Given the description of an element on the screen output the (x, y) to click on. 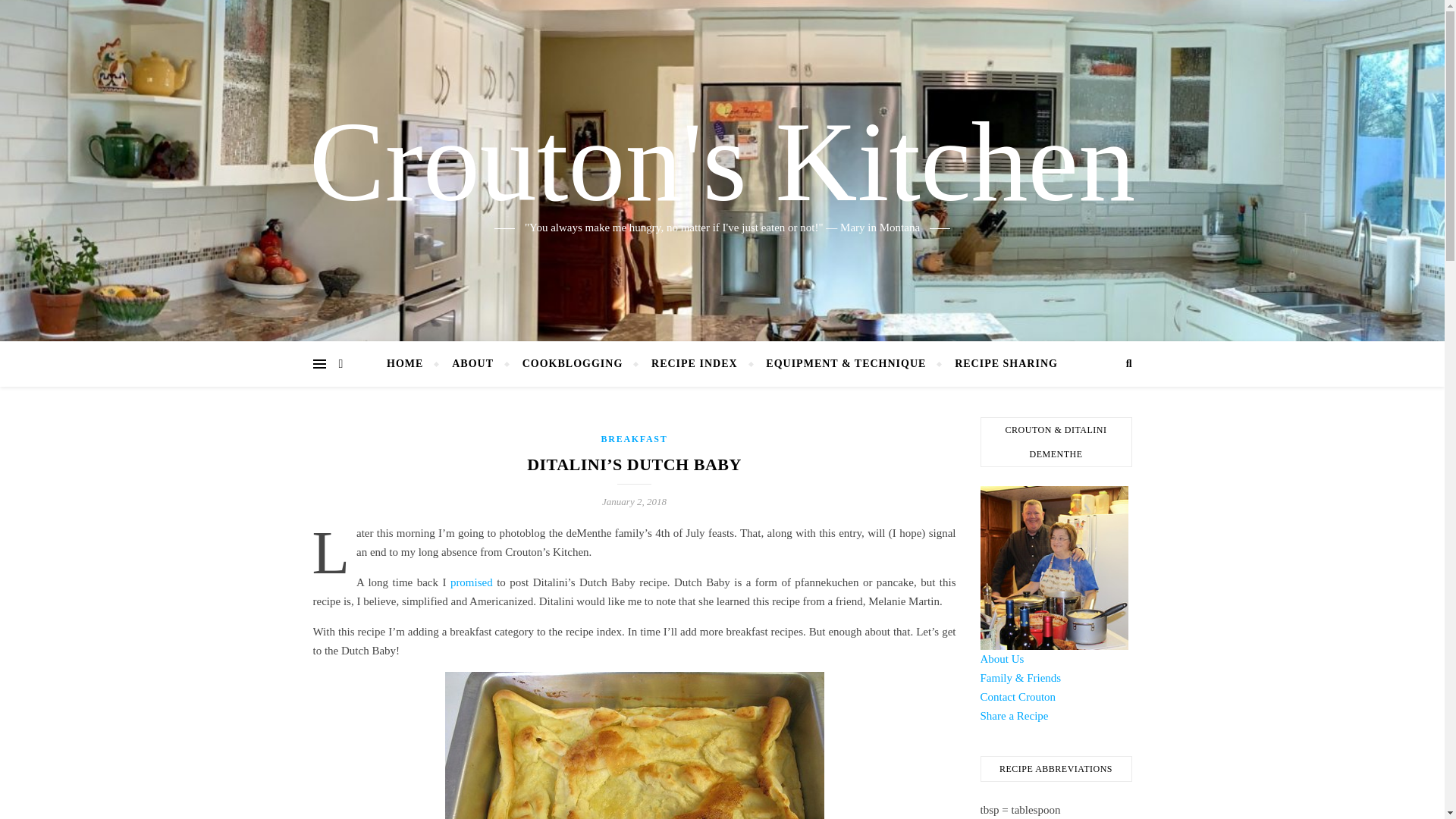
About Us (1001, 658)
RECIPE SHARING (1000, 363)
Contact Crouton (1017, 696)
promised (471, 582)
BREAKFAST (634, 439)
Share a Recipe (1013, 715)
HOME (411, 363)
ABOUT (472, 363)
COOKBLOGGING (572, 363)
RECIPE INDEX (695, 363)
